Given the description of an element on the screen output the (x, y) to click on. 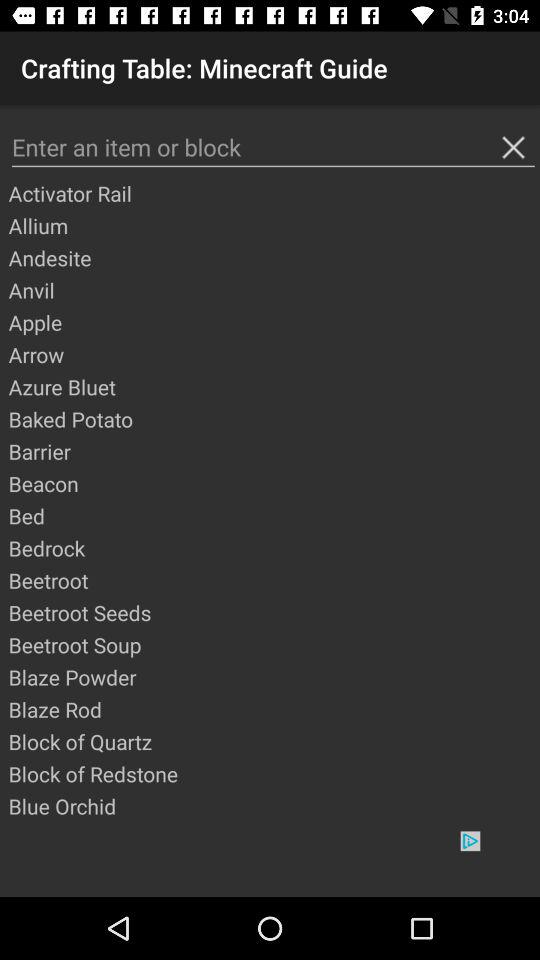
jump to the activator rail (273, 193)
